Given the description of an element on the screen output the (x, y) to click on. 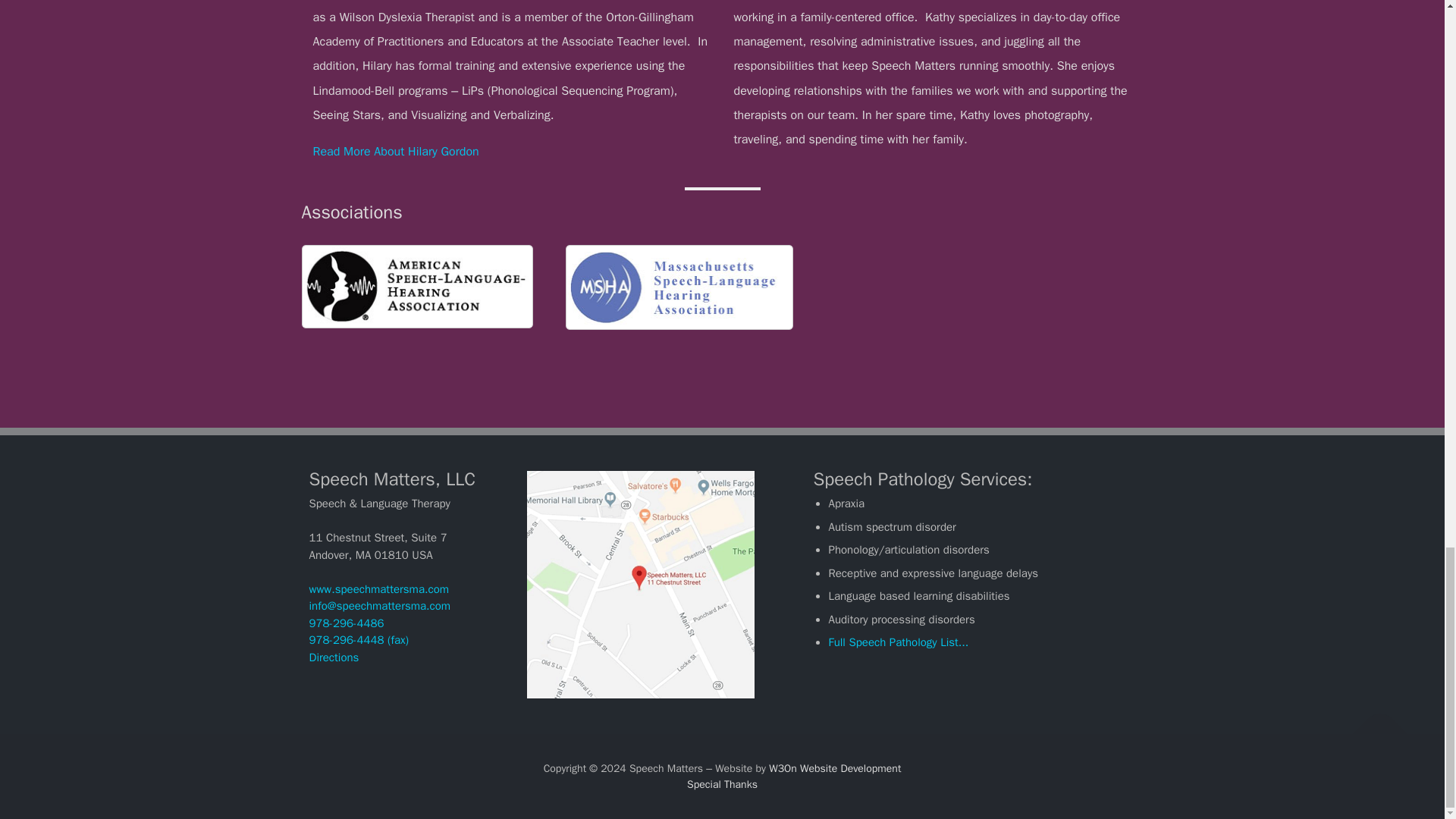
Read More About Hilary Gordon (396, 151)
Directions (333, 657)
W3On Website Development (834, 768)
www.speechmattersma.com (378, 589)
978-296-4486 (346, 622)
Back To Top (1372, 726)
Full Speech Pathology List... (898, 642)
